Given the description of an element on the screen output the (x, y) to click on. 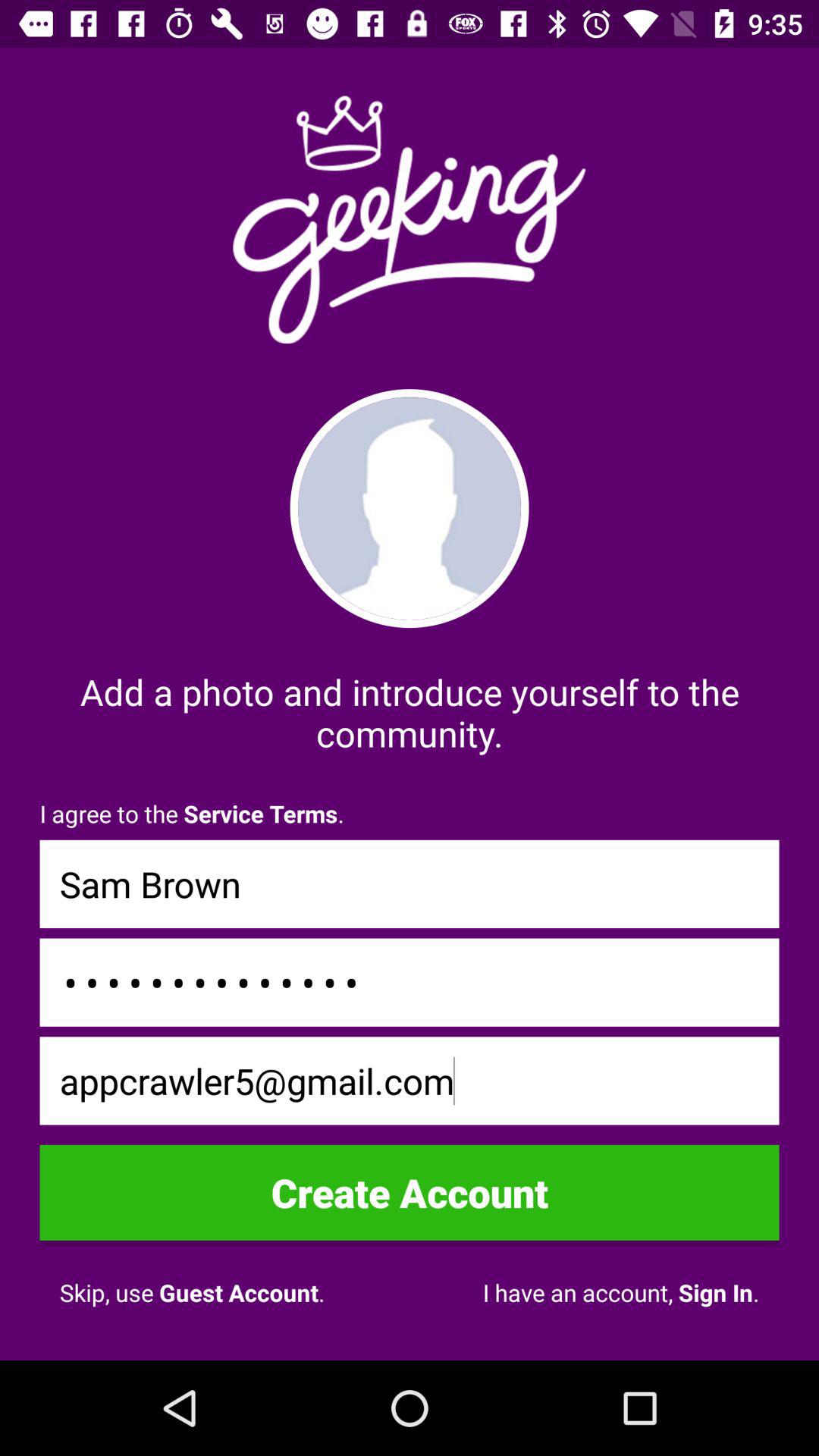
insert a profile photo (409, 508)
